Given the description of an element on the screen output the (x, y) to click on. 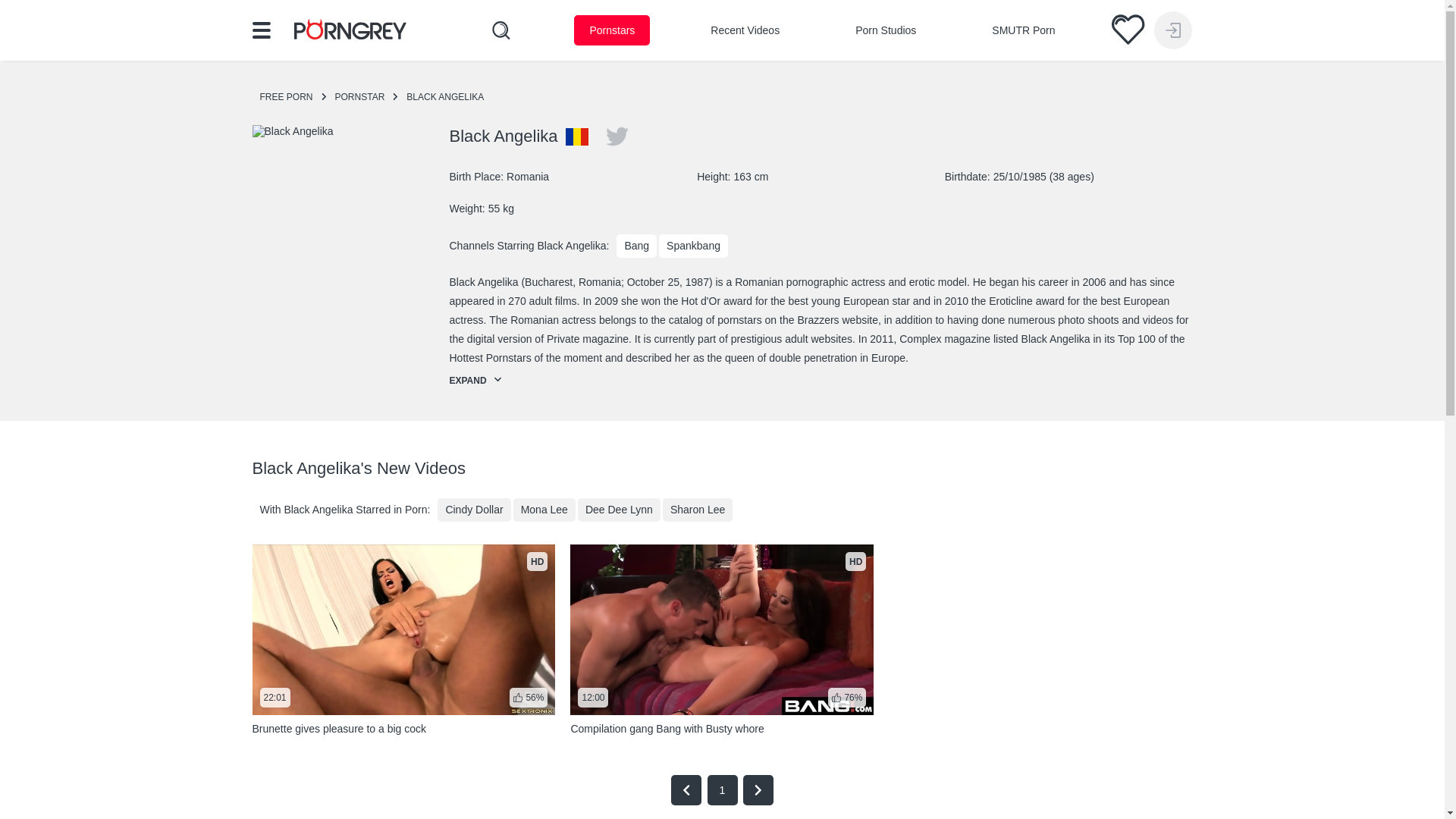
Porn Studios (885, 30)
SMUTR Porn (1023, 30)
Compilation gang Bang with Busty whore (722, 789)
Recent Videos (721, 639)
porngrey (744, 30)
Brunette gives pleasure to a big cock (349, 31)
Pornstars (722, 96)
Menu (402, 639)
Search (611, 30)
